Given the description of an element on the screen output the (x, y) to click on. 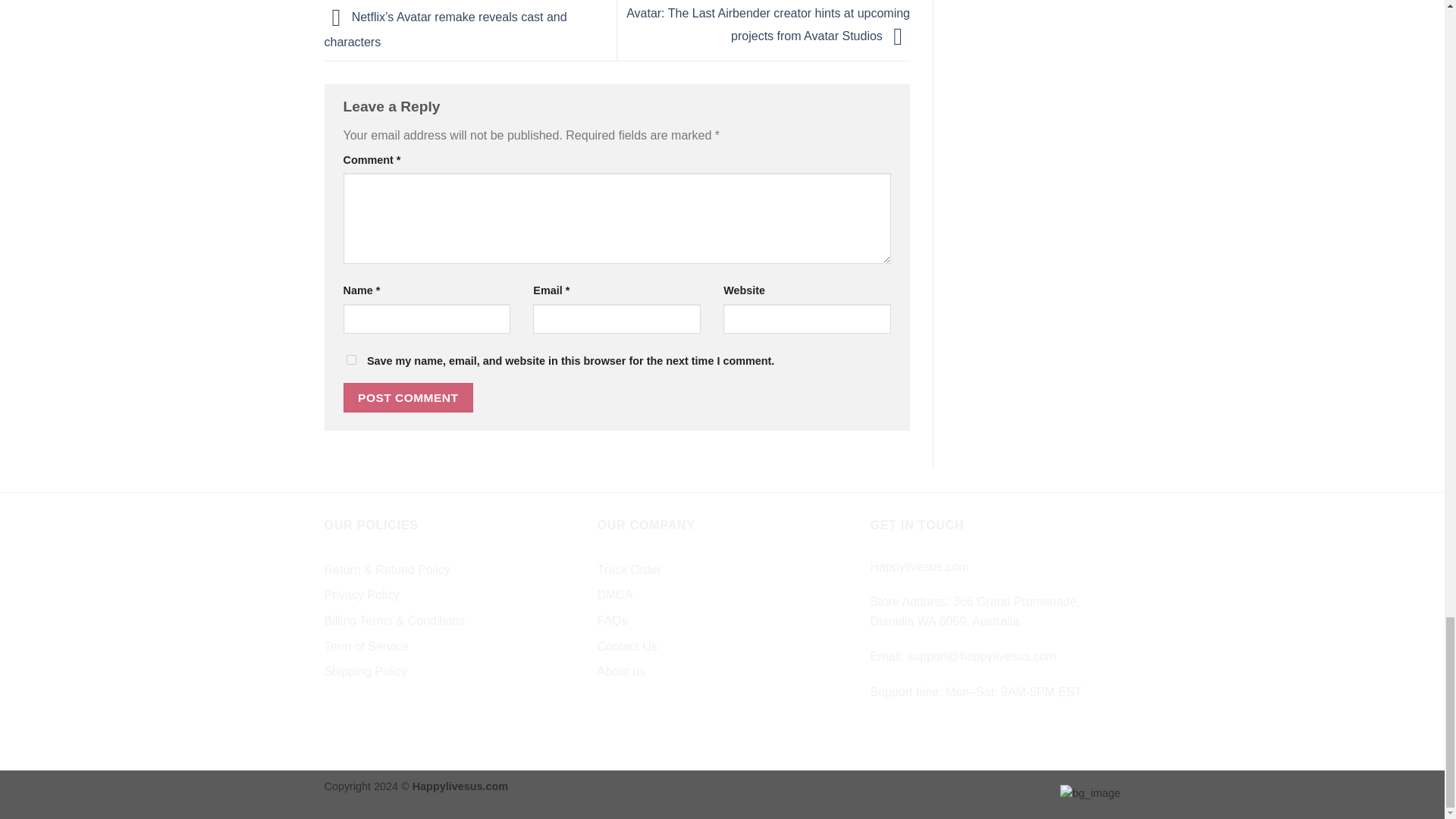
Post Comment (407, 397)
yes (350, 359)
